Given the description of an element on the screen output the (x, y) to click on. 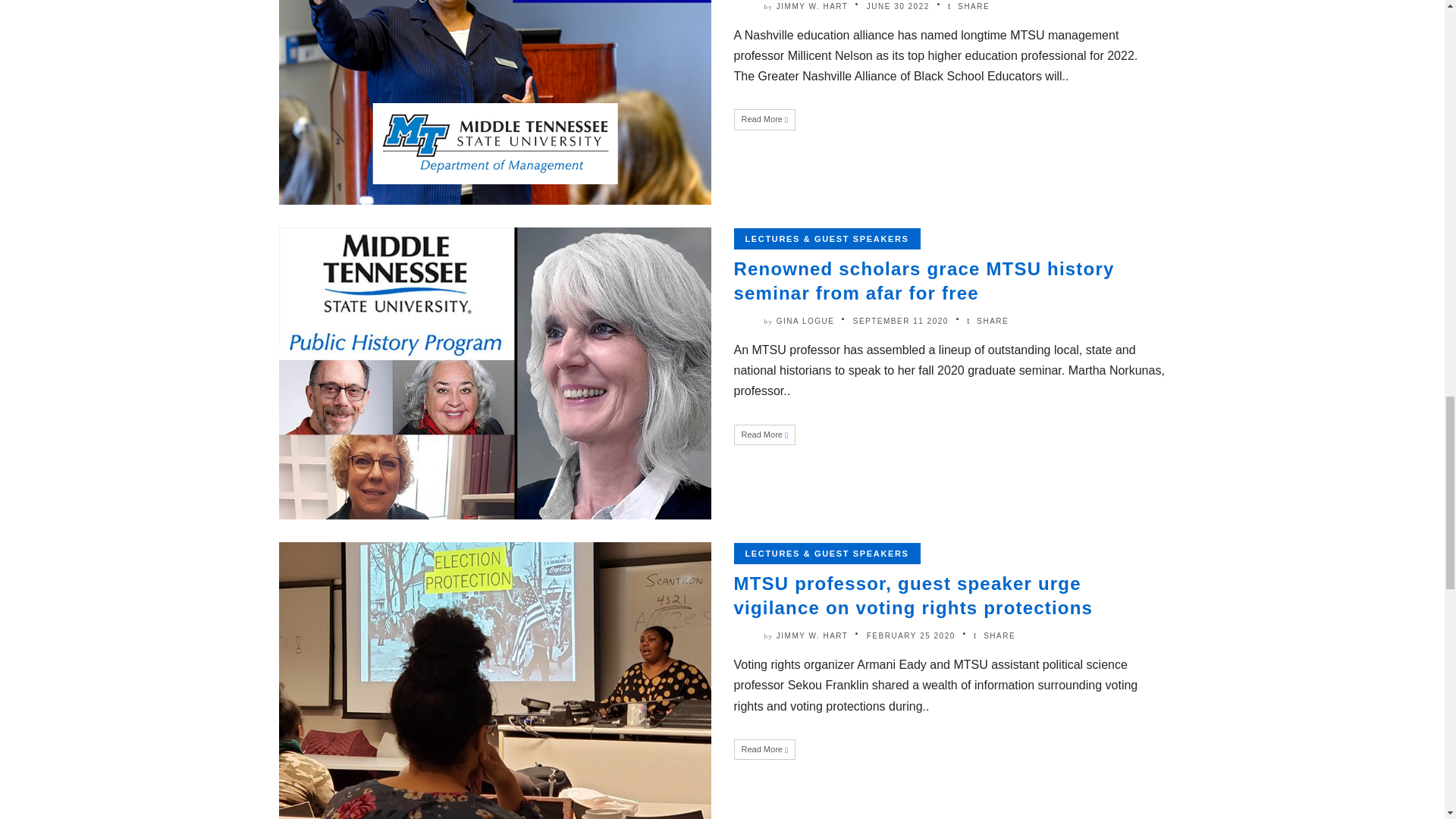
Posts by Jimmy W. Hart (812, 5)
June 30, 2022 2:23 (898, 5)
